Given the description of an element on the screen output the (x, y) to click on. 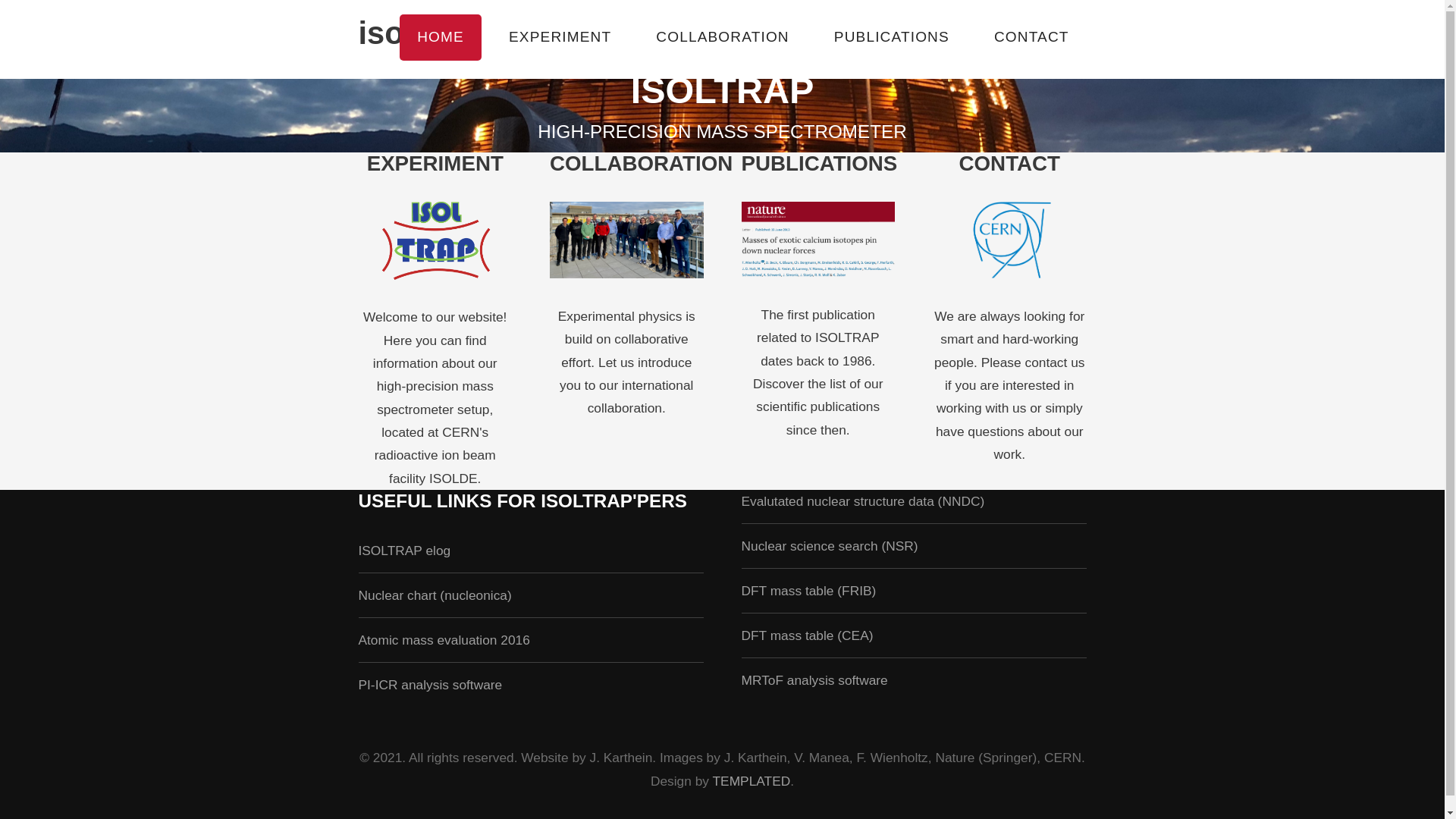
TEMPLATED Element type: text (751, 780)
Evalutated nuclear structure data (NNDC) Element type: text (863, 500)
COLLABORATION Element type: text (722, 37)
DFT mass table (CEA) Element type: text (807, 635)
DFT mass table (FRIB) Element type: text (808, 590)
isoltrap Element type: text (414, 32)
PUBLICATIONS Element type: text (891, 37)
HOME Element type: text (439, 37)
CONTACT Element type: text (1009, 163)
COLLABORATION Element type: text (640, 163)
ISOLTRAP elog Element type: text (403, 550)
Nuclear chart (nucleonica) Element type: text (434, 594)
EXPERIMENT Element type: text (559, 37)
EXPERIMENT Element type: text (435, 163)
Nuclear science search (NSR) Element type: text (829, 545)
MRToF analysis software Element type: text (814, 679)
Atomic mass evaluation 2016 Element type: text (443, 639)
CONTACT Element type: text (1030, 37)
PI-ICR analysis software Element type: text (429, 684)
PUBLICATIONS Element type: text (819, 163)
